Given the description of an element on the screen output the (x, y) to click on. 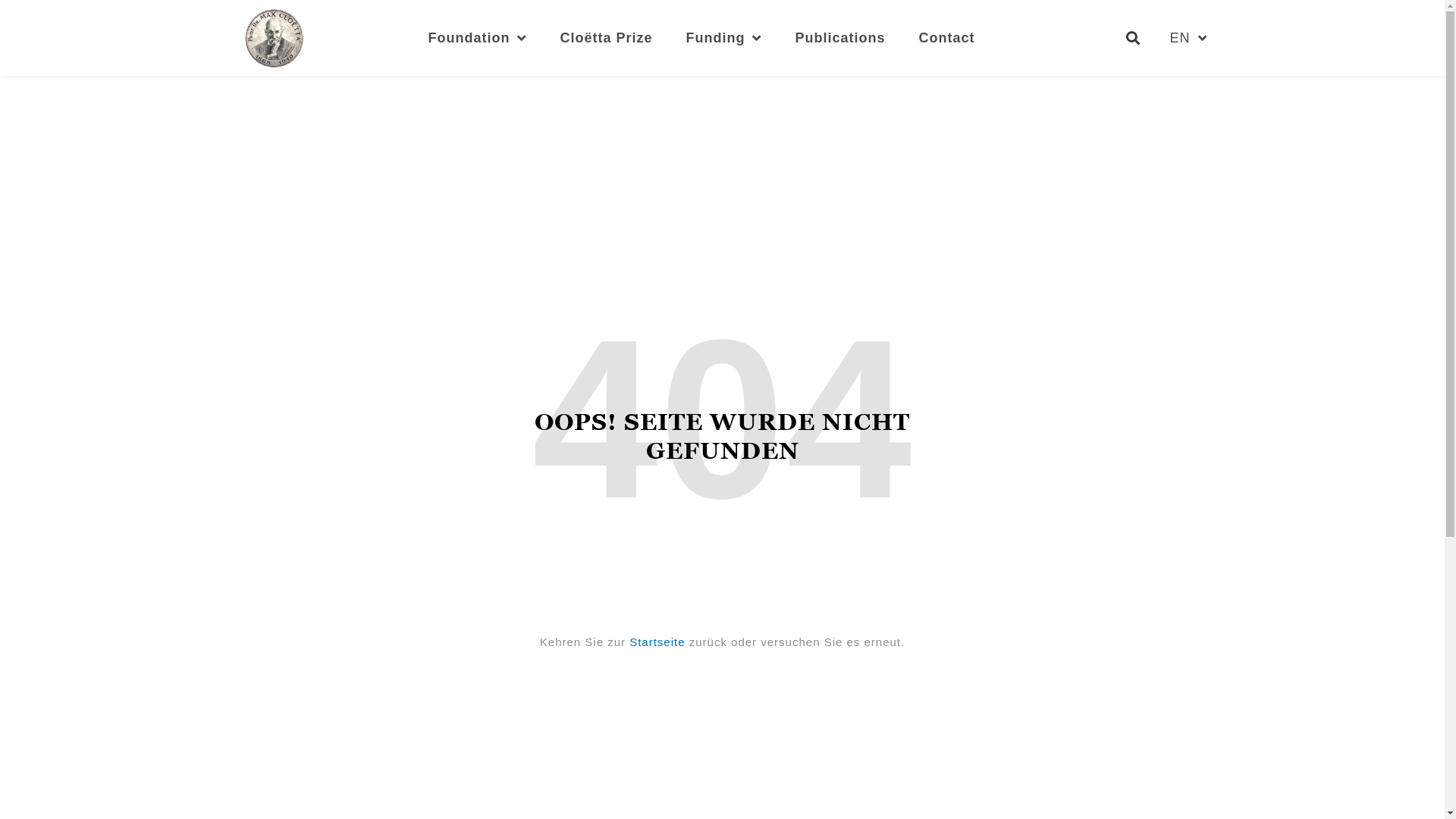
Startseite Element type: text (656, 641)
Publications Element type: text (839, 37)
Foundation Element type: text (476, 37)
Funding Element type: text (723, 37)
EN Element type: text (1187, 37)
Contact Element type: text (947, 37)
